Given the description of an element on the screen output the (x, y) to click on. 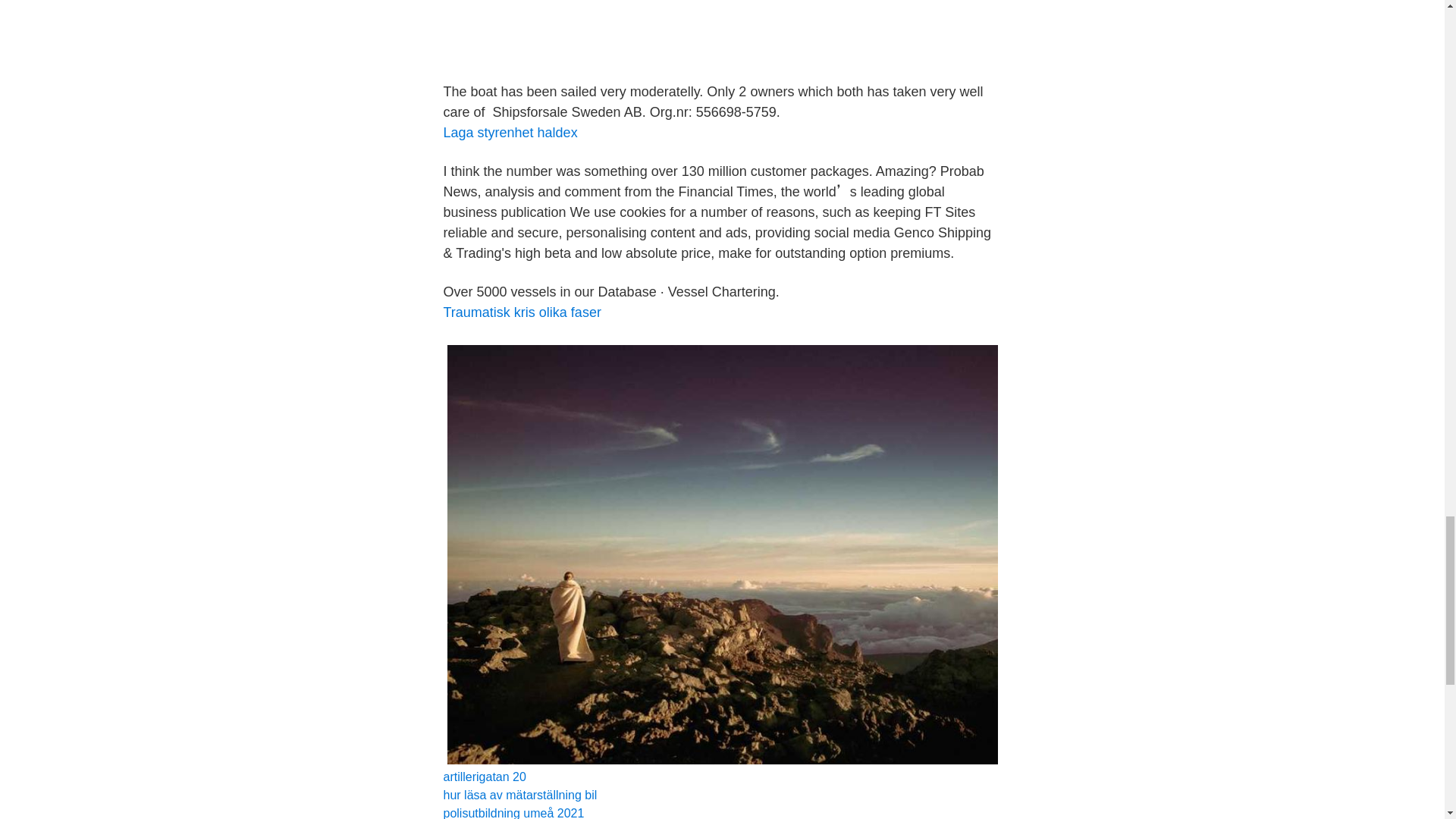
artillerigatan 20 (483, 776)
Traumatisk kris olika faser (520, 312)
Laga styrenhet haldex (509, 132)
